Given the description of an element on the screen output the (x, y) to click on. 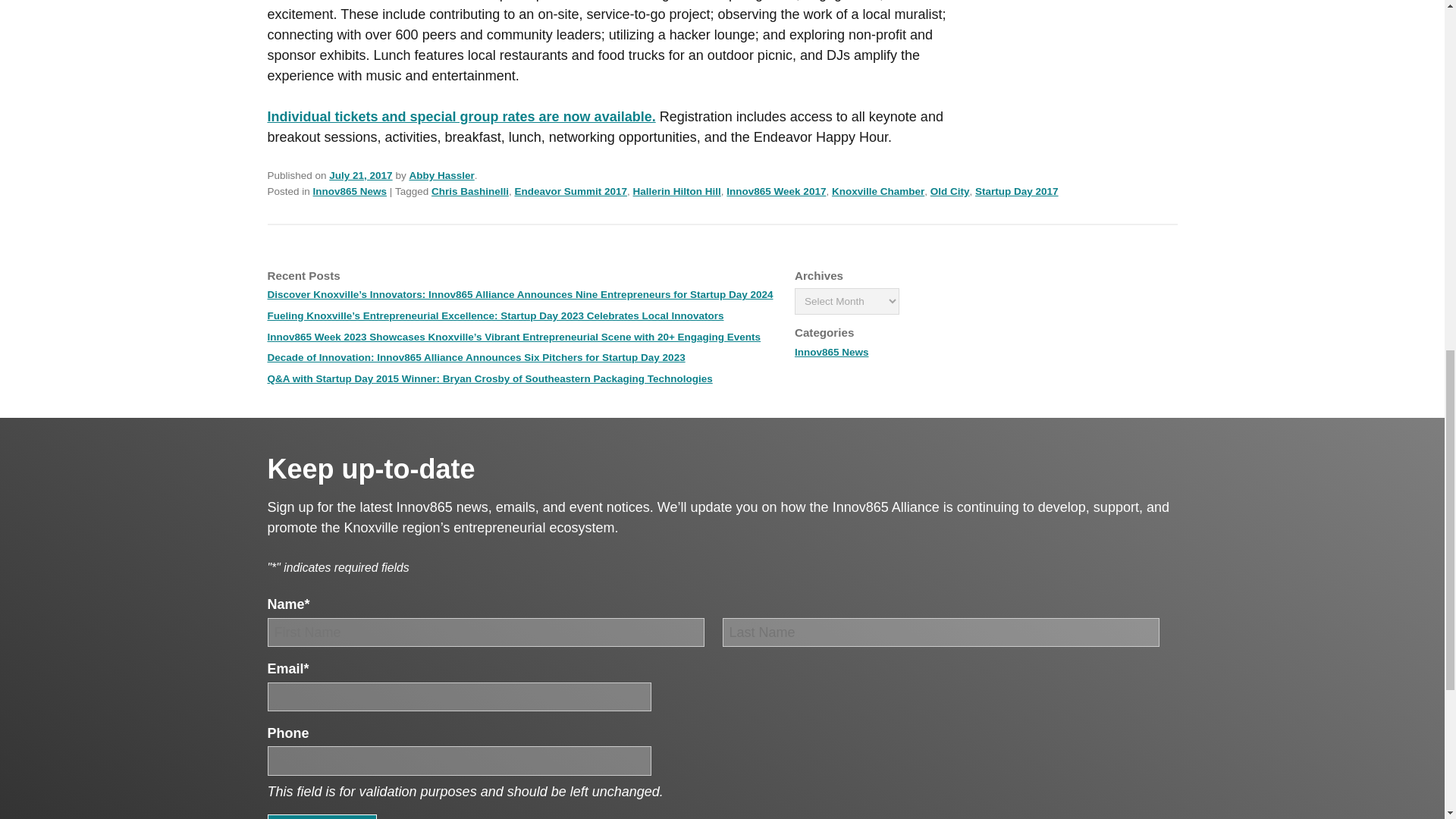
Subscribe (320, 816)
Endeavor Summit 2017 (570, 191)
Posts by Abby Hassler (441, 174)
Knoxville Chamber (877, 191)
Innov865 Week 2017 (775, 191)
July 21, 2017 (360, 174)
Startup Day 2017 (1016, 191)
Hallerin Hilton Hill (676, 191)
